Given the description of an element on the screen output the (x, y) to click on. 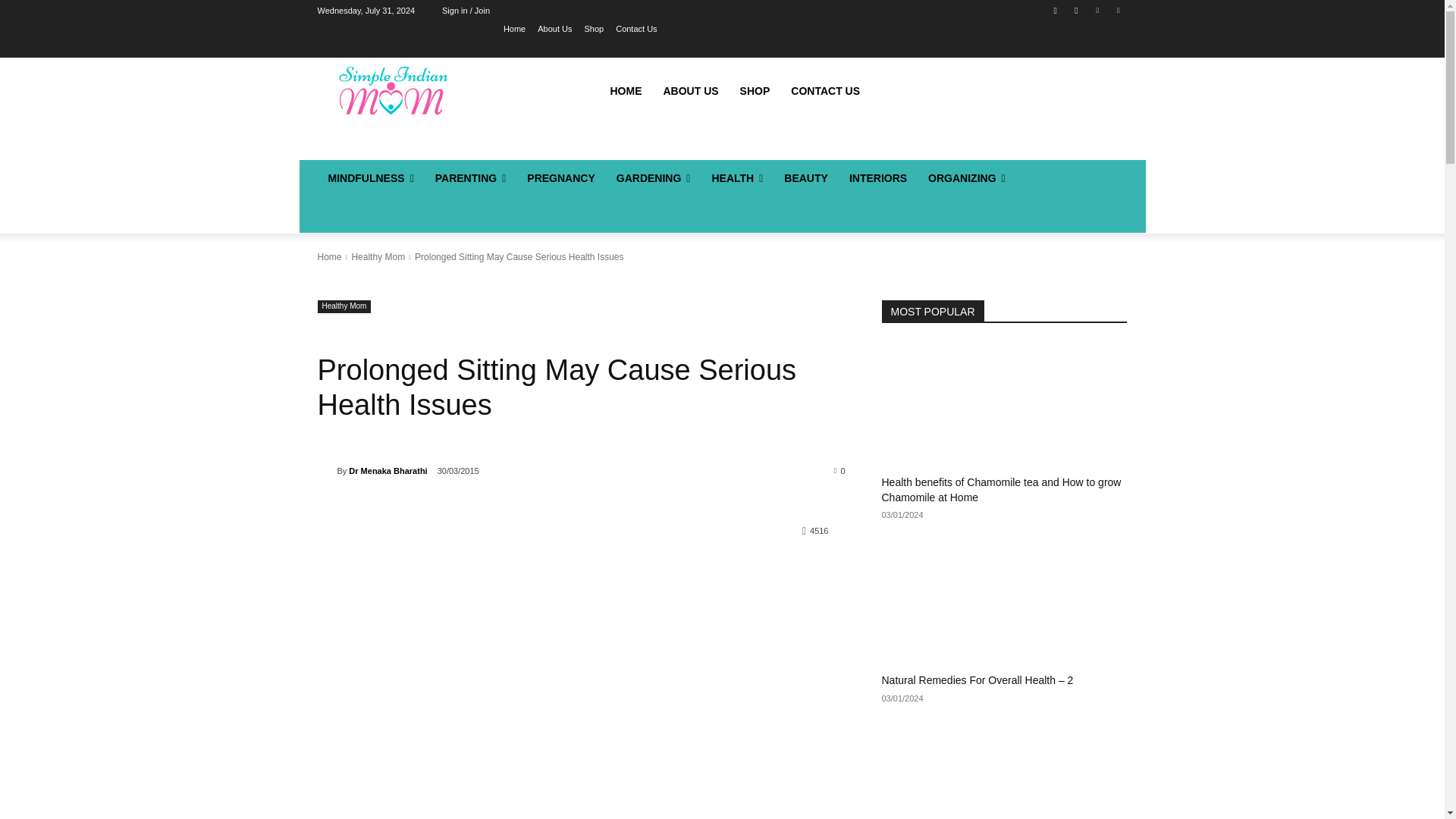
Twitter (1117, 9)
Shop (593, 28)
SHOP (754, 90)
Pinterest (1097, 9)
HOME (625, 90)
Home (514, 28)
MINDFULNESS (370, 177)
Instagram (1075, 9)
CONTACT US (825, 90)
About Us (554, 28)
Contact Us (635, 28)
View all posts in Healthy Mom (377, 256)
Facebook (1055, 9)
Dr Menaka Bharathi (326, 470)
ABOUT US (690, 90)
